Given the description of an element on the screen output the (x, y) to click on. 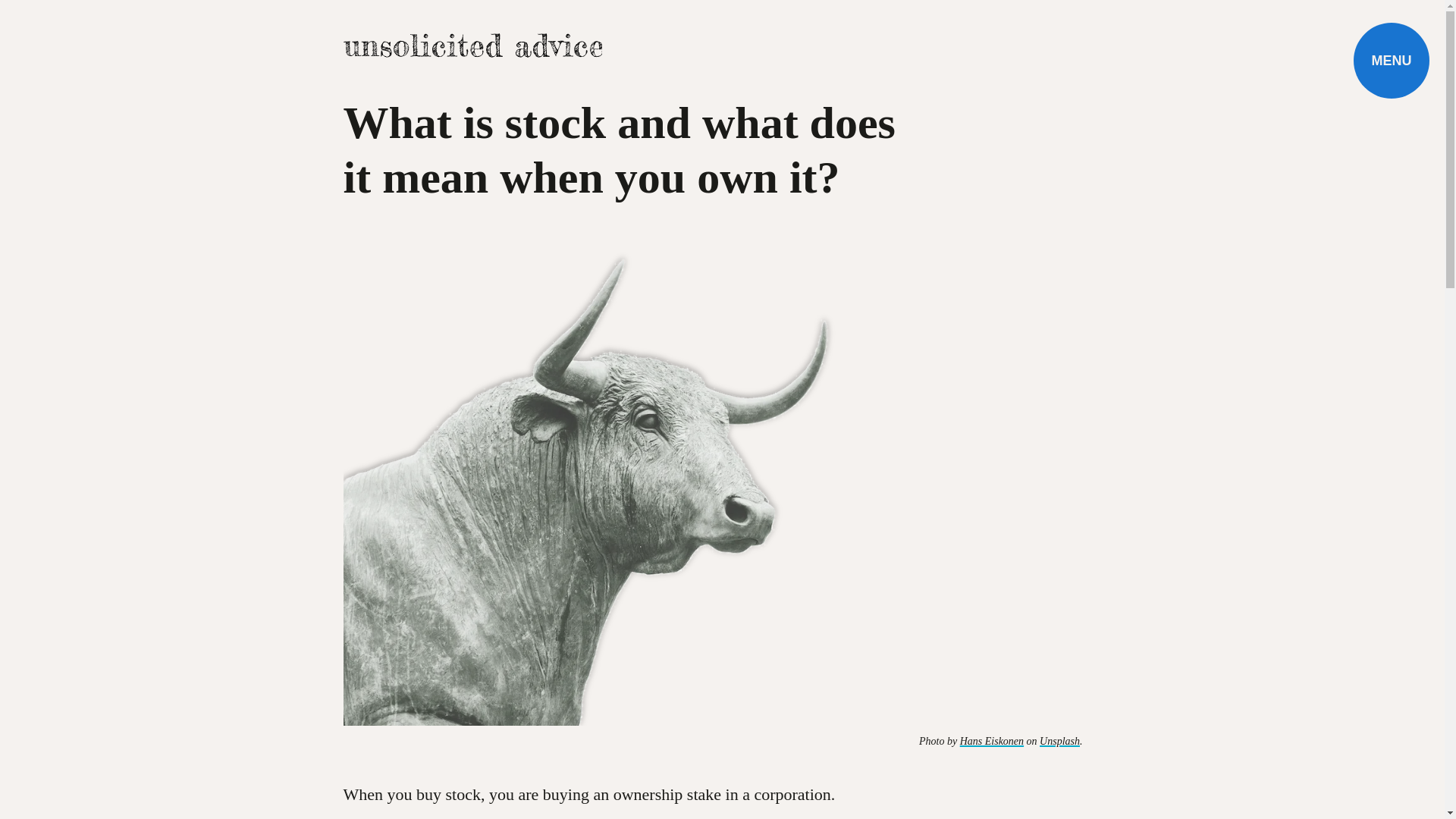
Hans Eiskonen (991, 740)
Unsplash (1059, 740)
MENU (1391, 60)
